Given the description of an element on the screen output the (x, y) to click on. 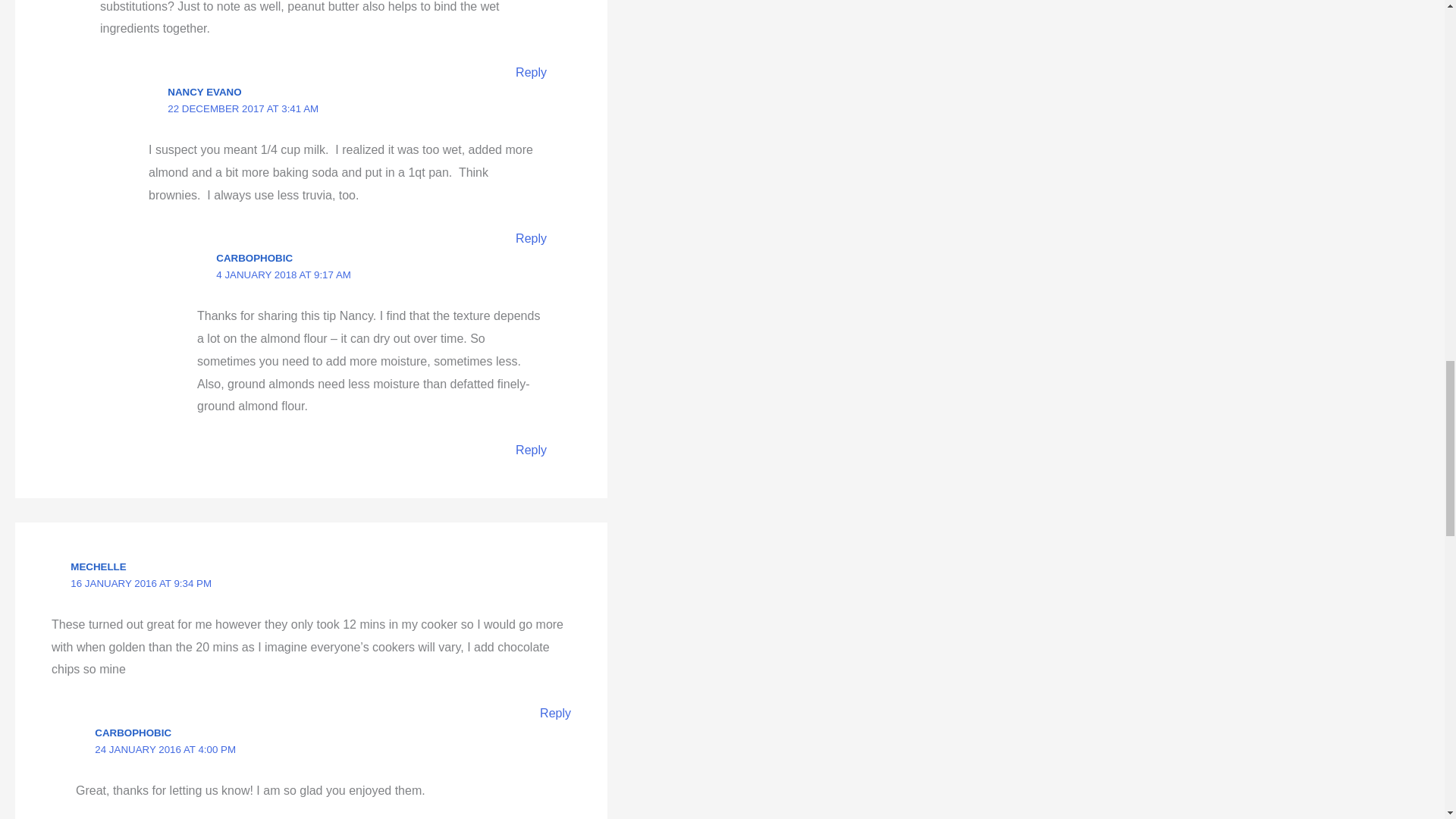
22 DECEMBER 2017 AT 3:41 AM (242, 108)
Reply (531, 72)
4 JANUARY 2018 AT 9:17 AM (282, 274)
24 JANUARY 2016 AT 4:00 PM (164, 749)
Reply (531, 237)
Reply (531, 449)
16 JANUARY 2016 AT 9:34 PM (140, 583)
Reply (555, 712)
